Given the description of an element on the screen output the (x, y) to click on. 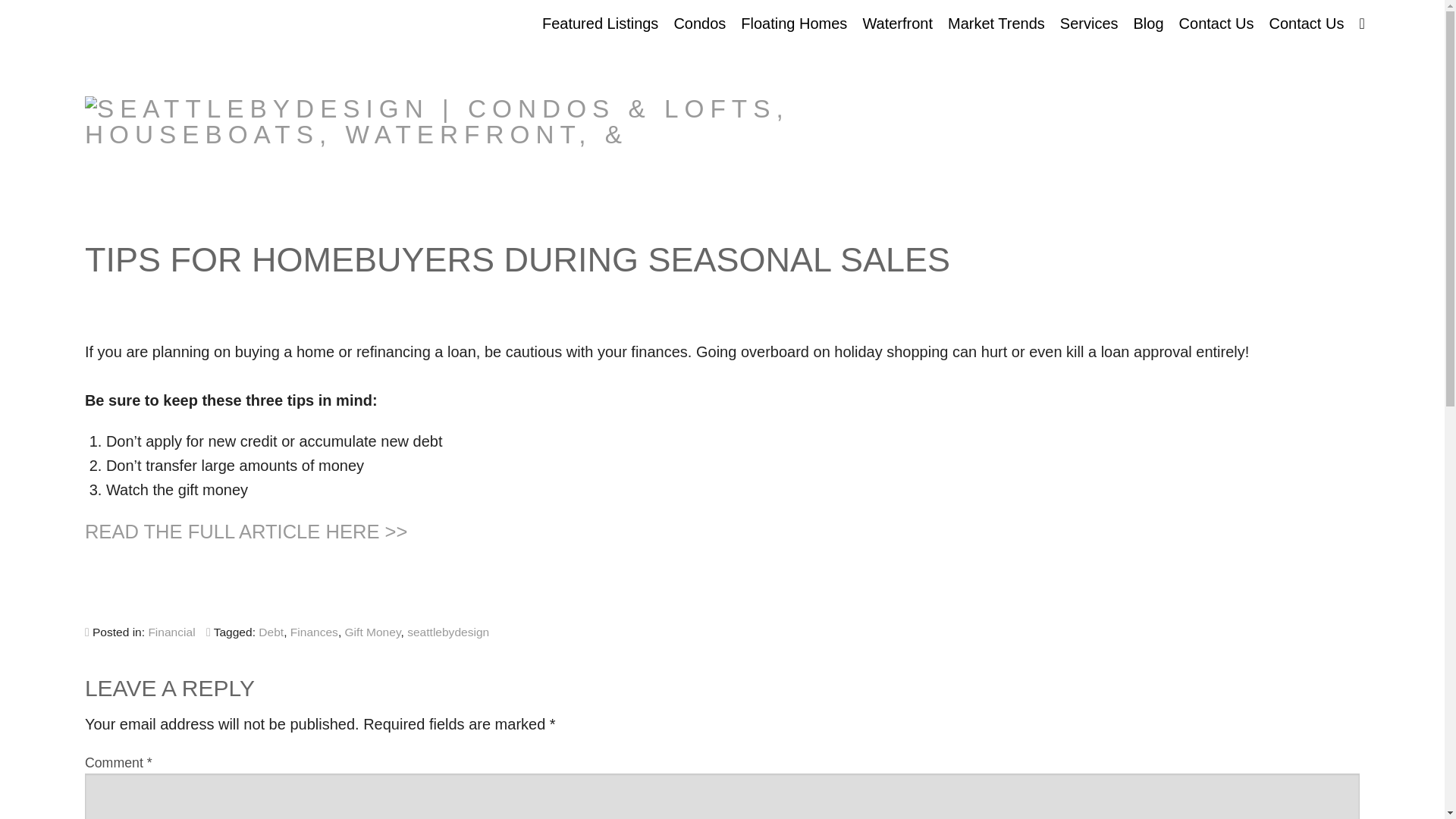
Floating Homes (793, 23)
Issaquah Market Trends (996, 106)
Lake Washington Waterfront (897, 303)
Queen Anne, Magnolia Condominiums (699, 106)
Lake Sammamish Waterfront (897, 342)
Seattle Market Trends (996, 342)
Medina Market Trends (996, 185)
Bellevue And Medina Waterfront (897, 224)
Sammamish Market Trends (996, 303)
South Puget Sound Waterfront (897, 382)
